Given the description of an element on the screen output the (x, y) to click on. 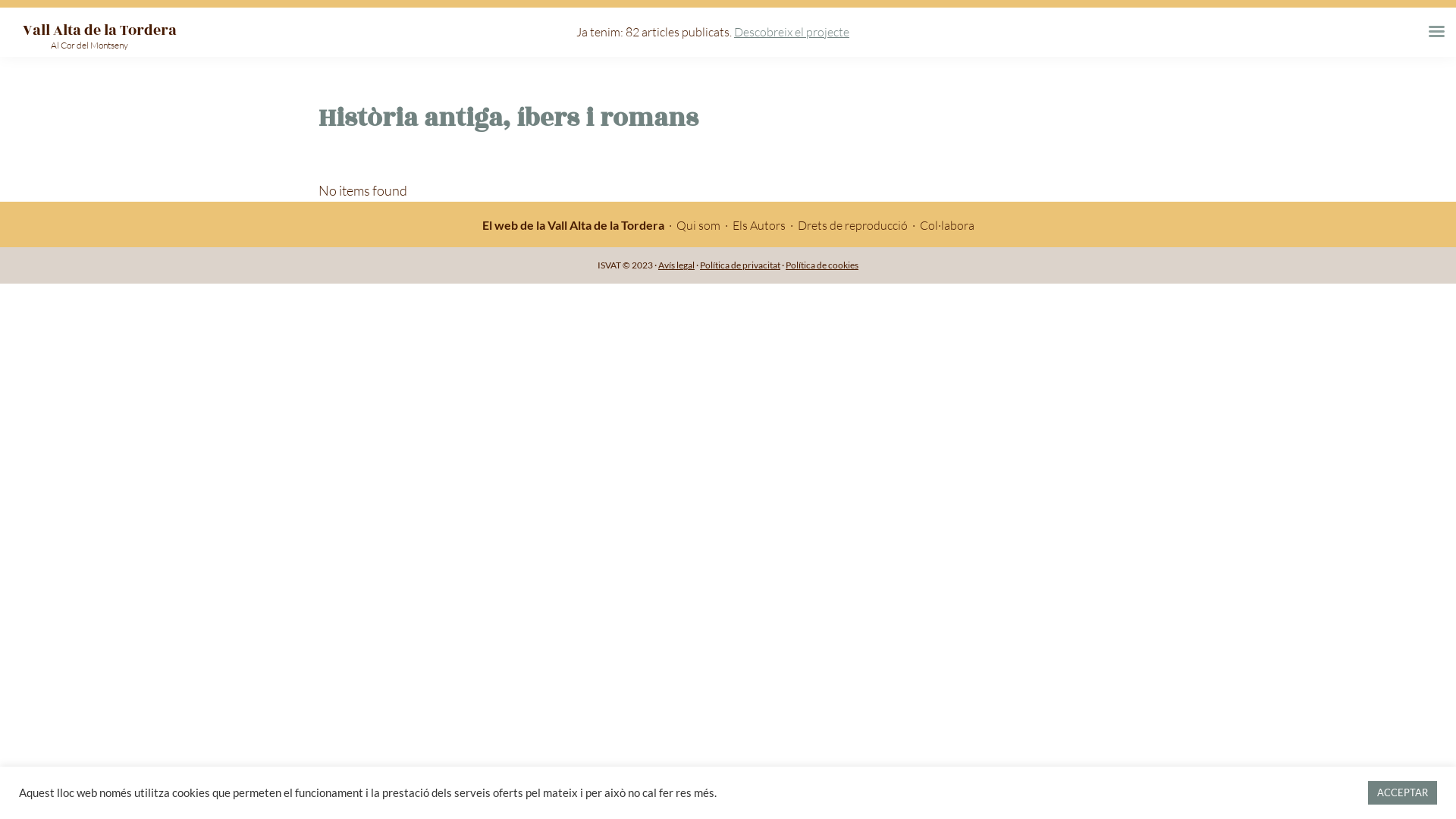
Els Autors Element type: text (758, 224)
ACCEPTAR Element type: text (1402, 792)
Vall Alta de la Tordera Element type: text (99, 29)
Descobreix el projecte Element type: text (791, 31)
Skip to main content Element type: text (0, 0)
Qui som Element type: text (698, 224)
El web de la Vall Alta de la Tordera Element type: text (573, 224)
